Given the description of an element on the screen output the (x, y) to click on. 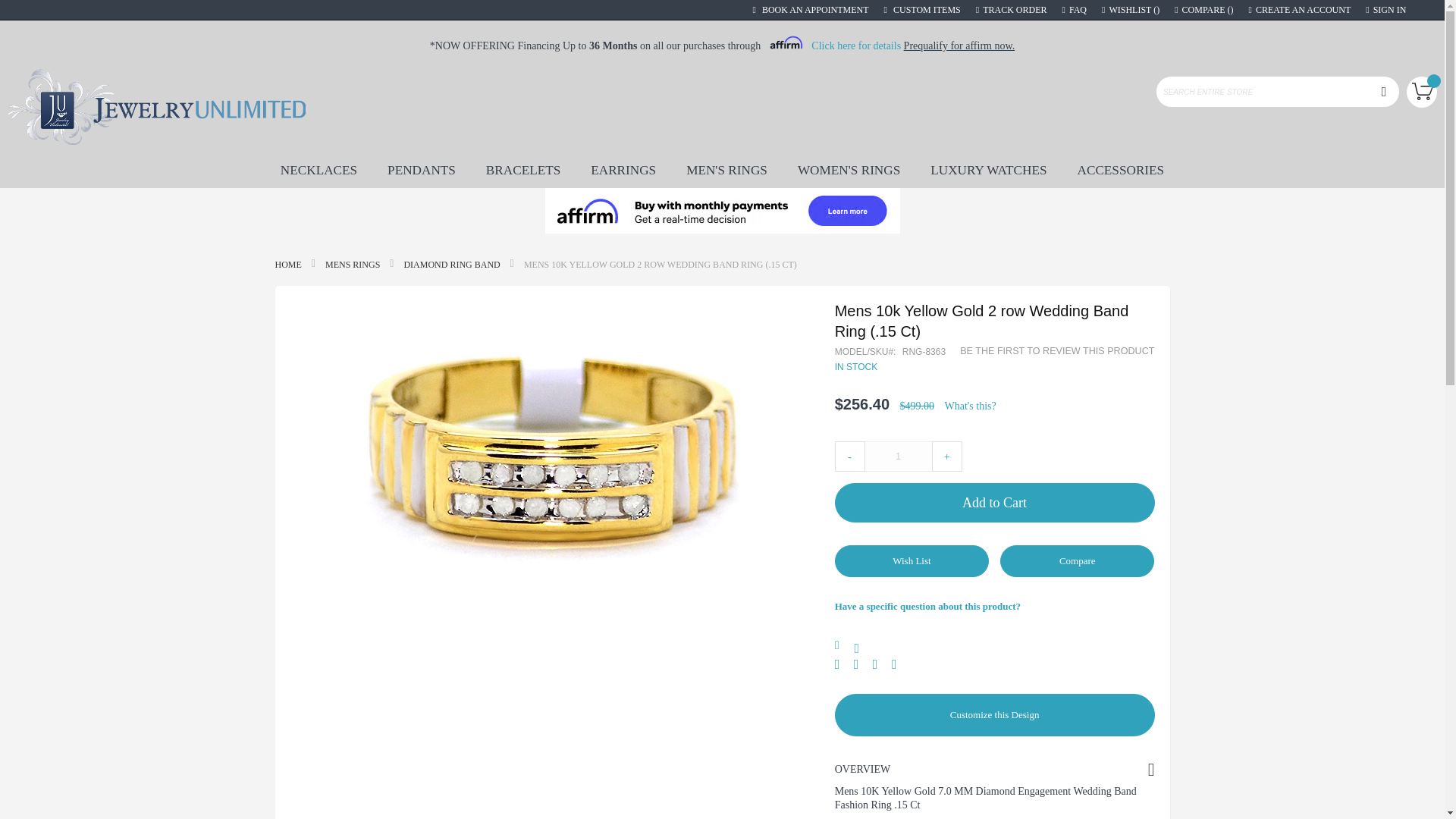
Have a specific question about this product? (994, 606)
Mens Rings (352, 264)
Click here for details (855, 45)
Search (1383, 91)
CREATE AN ACCOUNT (1300, 9)
SEARCH (1383, 91)
Prequalify for affirm now. (959, 45)
WISHLIST (1130, 9)
1 (898, 456)
Availability (858, 367)
Go to Home Page (288, 264)
Add to Cart (994, 502)
FAQ (1074, 9)
Compare (1203, 9)
My Cart (1421, 91)
